Given the description of an element on the screen output the (x, y) to click on. 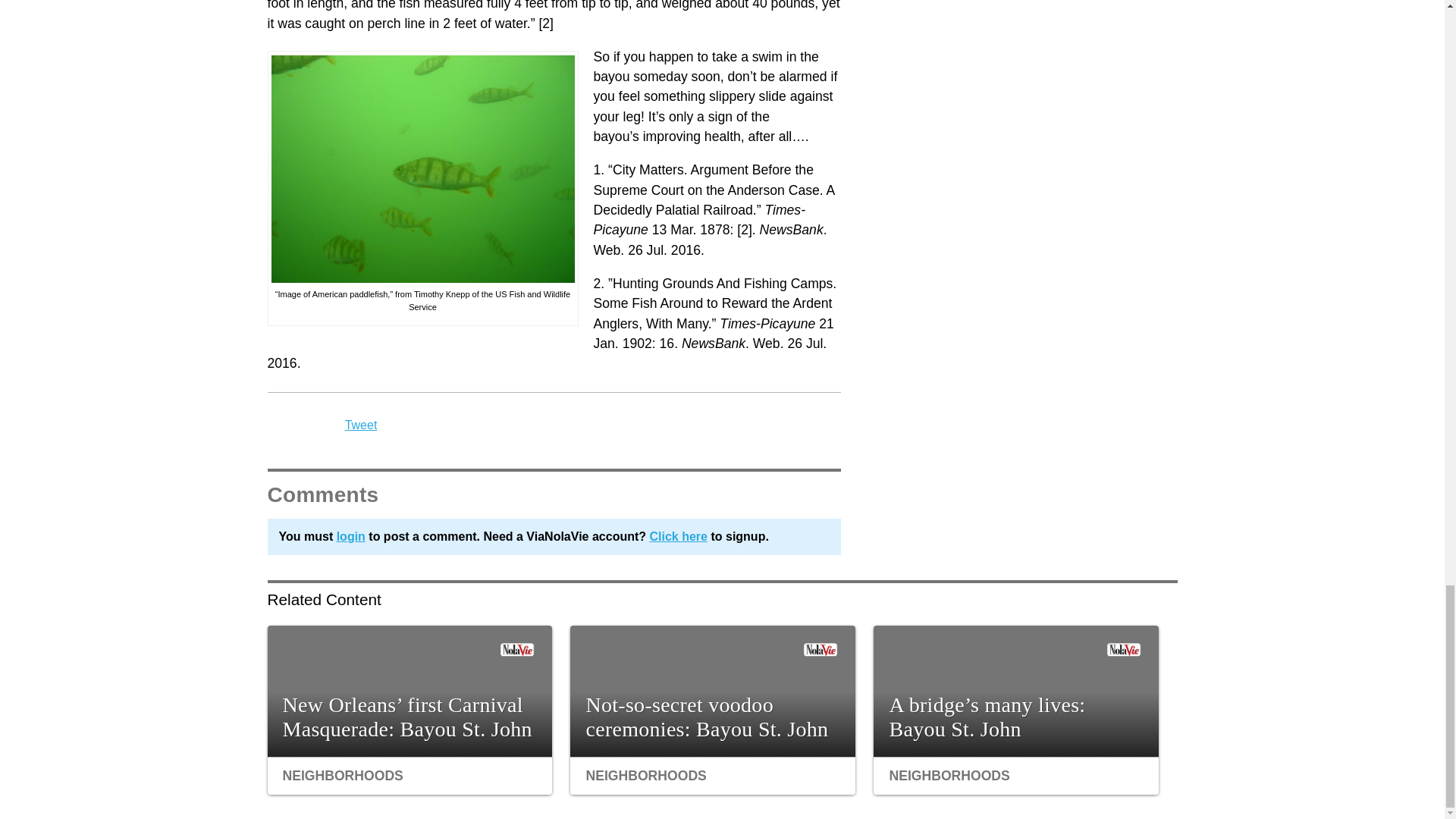
NEIGHBORHOODS (645, 775)
NEIGHBORHOODS (342, 775)
NEIGHBORHOODS (948, 775)
Click here (677, 535)
Tweet (361, 424)
login (350, 535)
Not-so-secret voodoo ceremonies: Bayou St. John (713, 690)
